Given the description of an element on the screen output the (x, y) to click on. 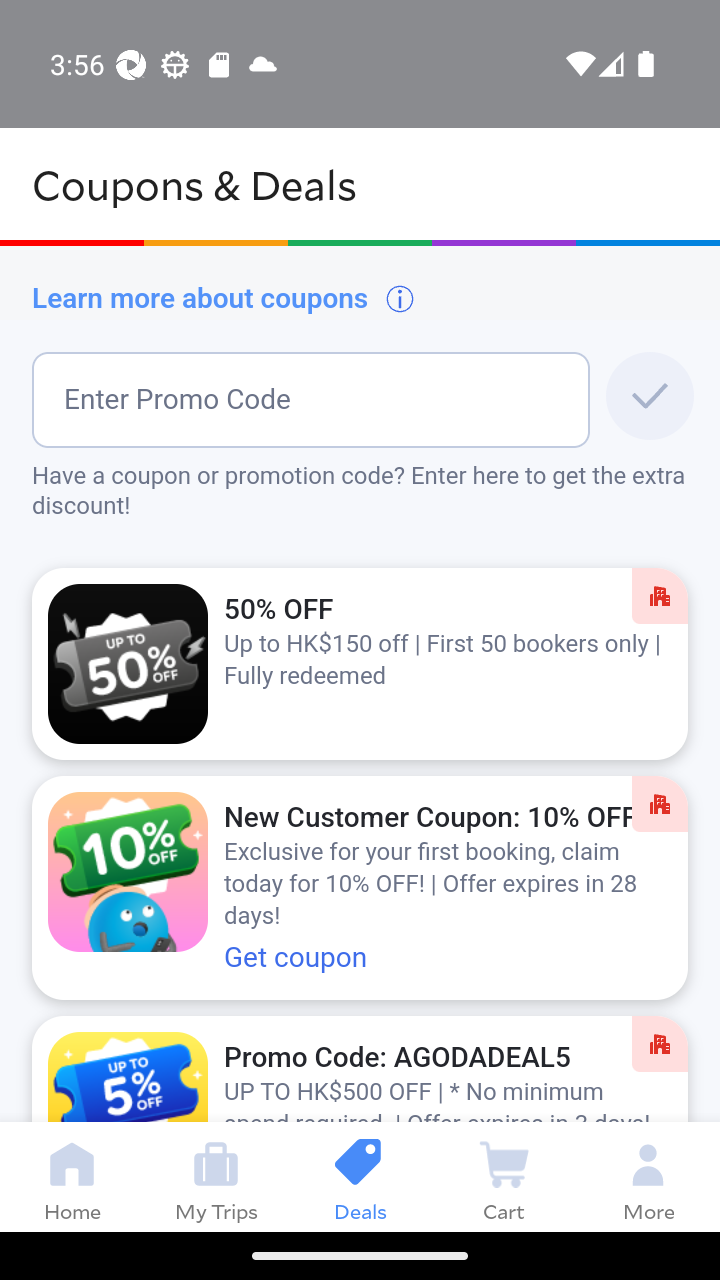
Learn more about coupons (224, 298)
Home (72, 1176)
My Trips (216, 1176)
Deals (360, 1176)
Cart (504, 1176)
More (648, 1176)
